Given the description of an element on the screen output the (x, y) to click on. 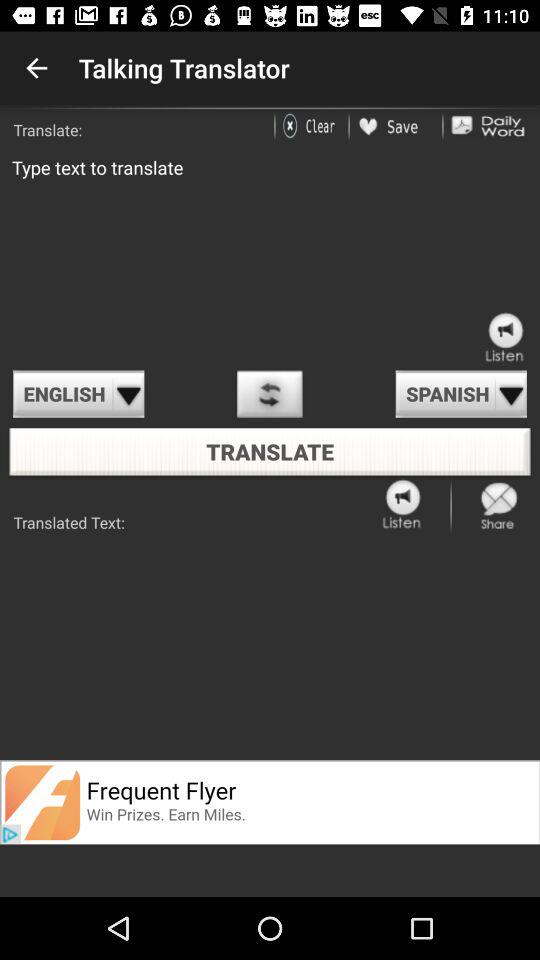
go to sepkar (403, 505)
